Given the description of an element on the screen output the (x, y) to click on. 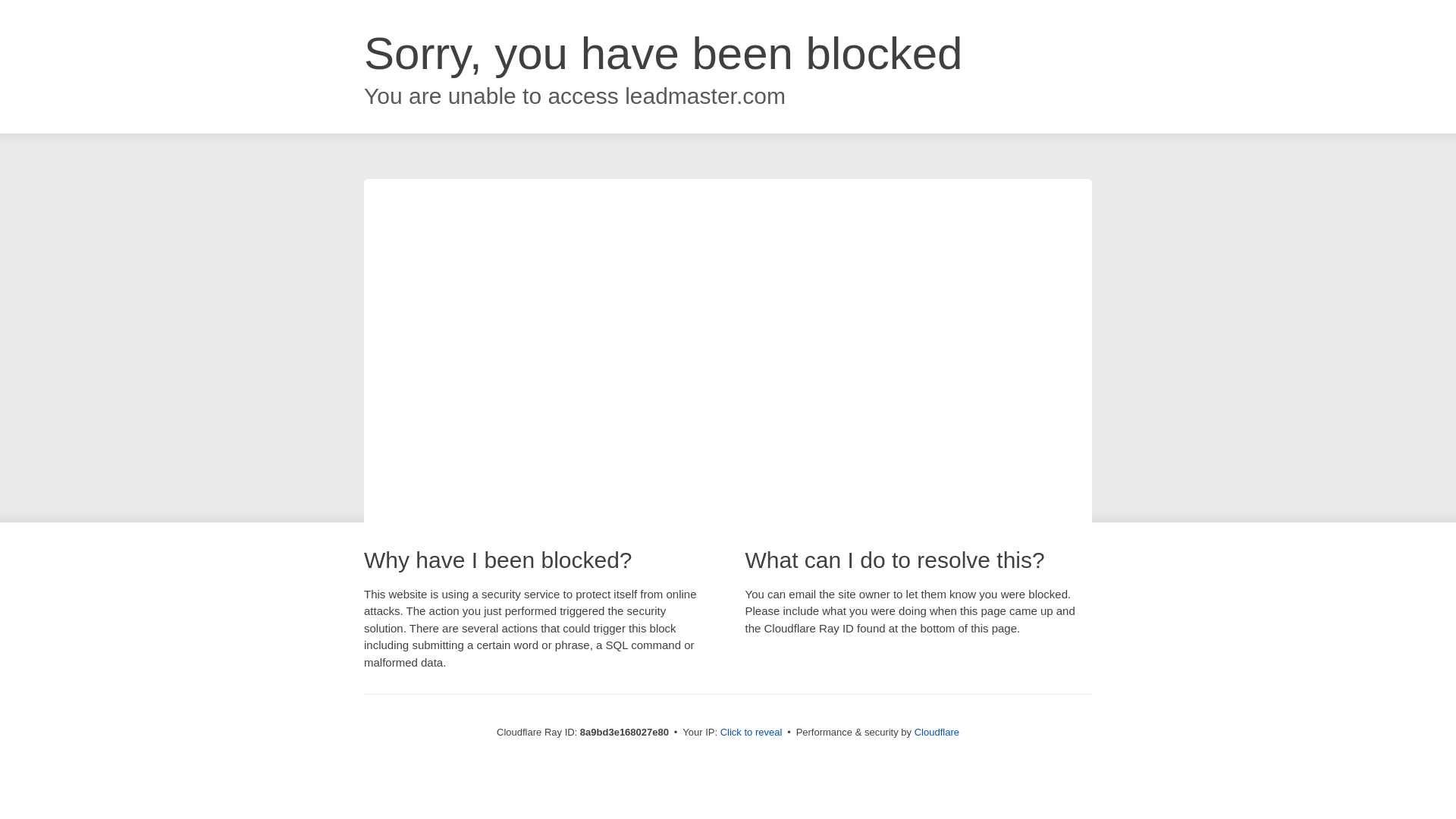
Click to reveal (751, 732)
Cloudflare (936, 731)
